Given the description of an element on the screen output the (x, y) to click on. 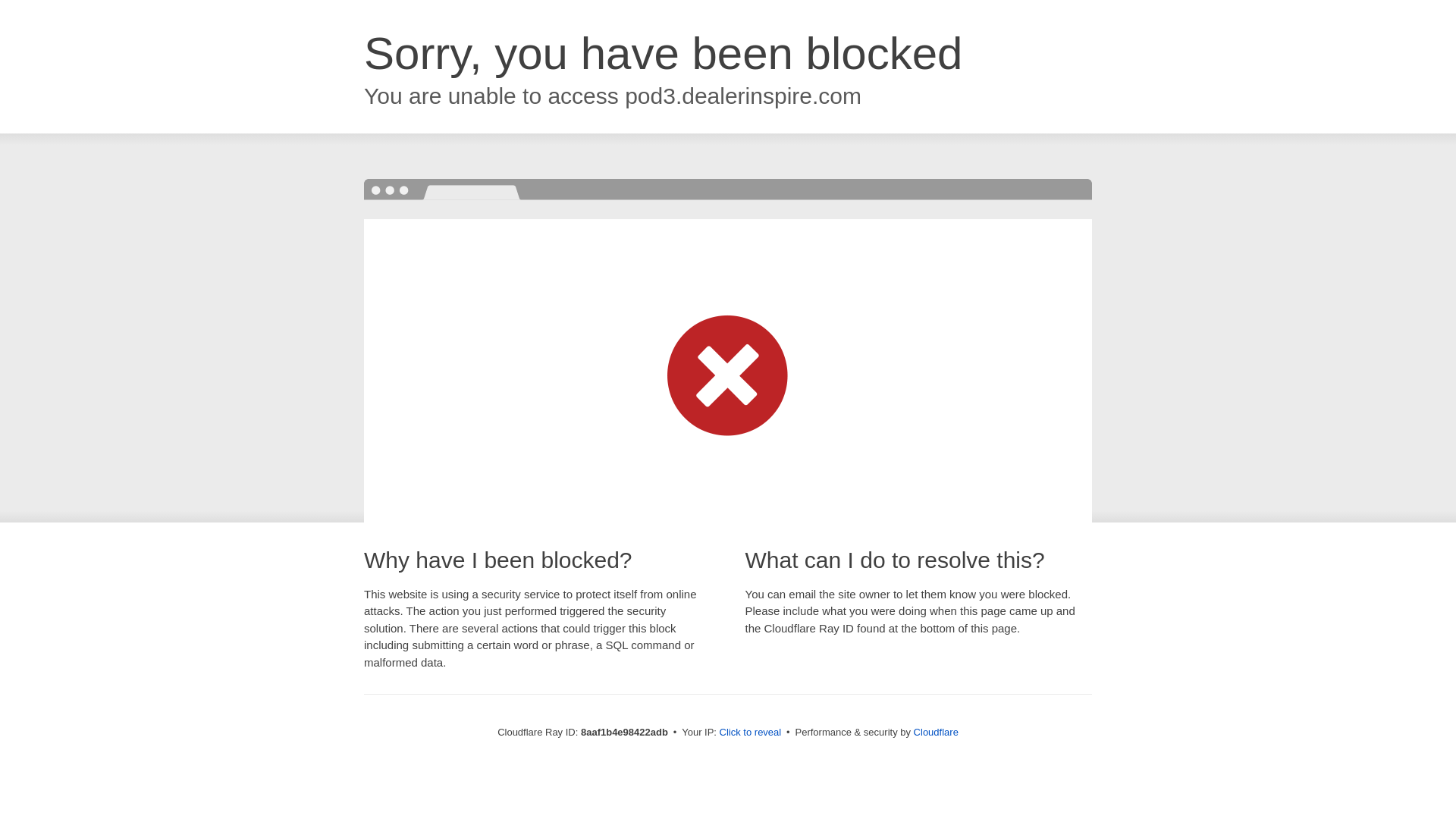
Cloudflare (936, 731)
Click to reveal (750, 732)
